Given the description of an element on the screen output the (x, y) to click on. 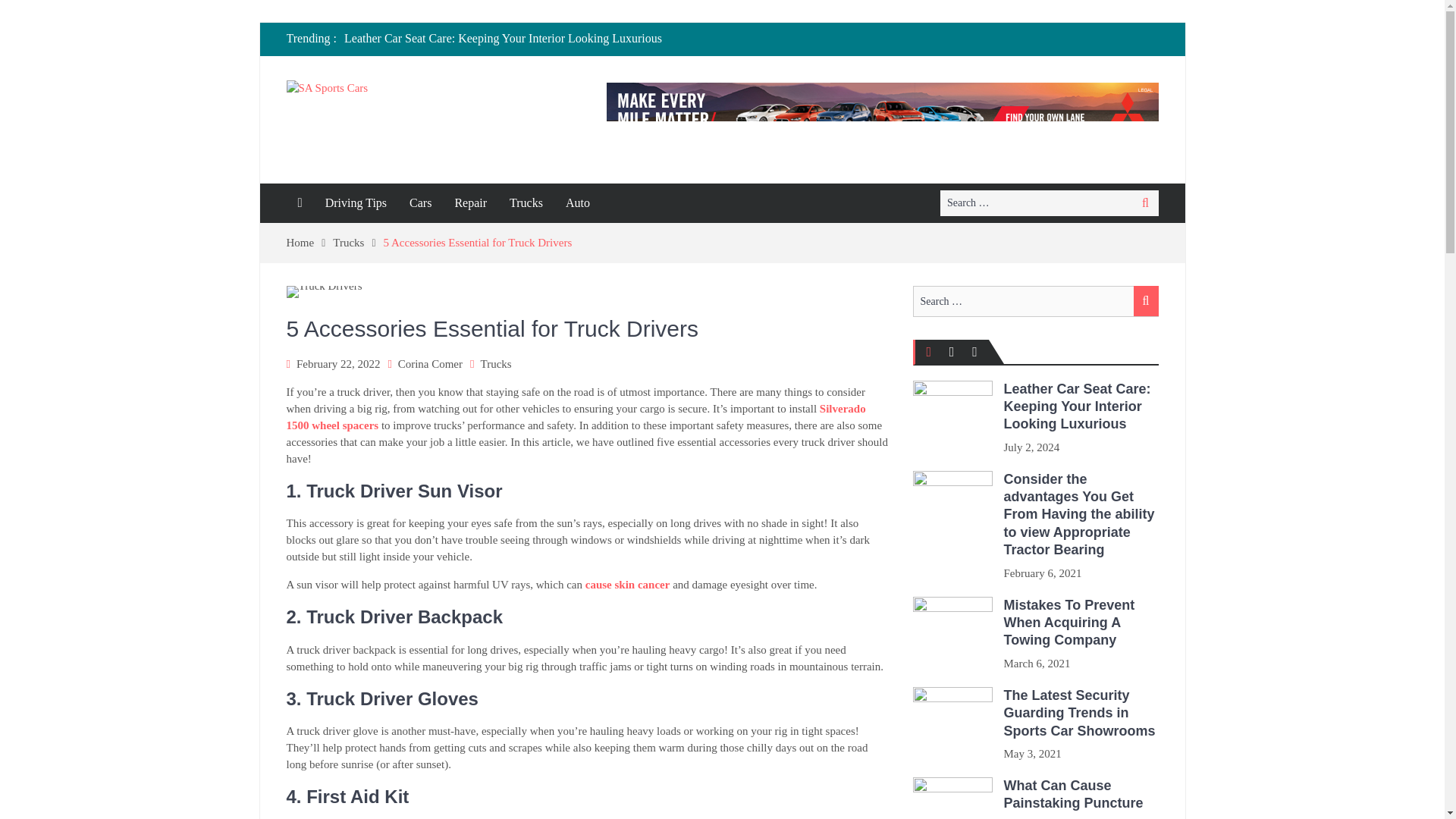
Auto (577, 202)
Cars (419, 202)
Home (309, 242)
Trucks (525, 202)
cause skin cancer (627, 584)
Trucks (496, 363)
February 22, 2022 (338, 363)
Trucks (357, 242)
Driving Tips (355, 202)
Repair (469, 202)
Corina Comer (430, 363)
Search (1145, 202)
Silverado 1500 wheel spacers (576, 416)
